Given the description of an element on the screen output the (x, y) to click on. 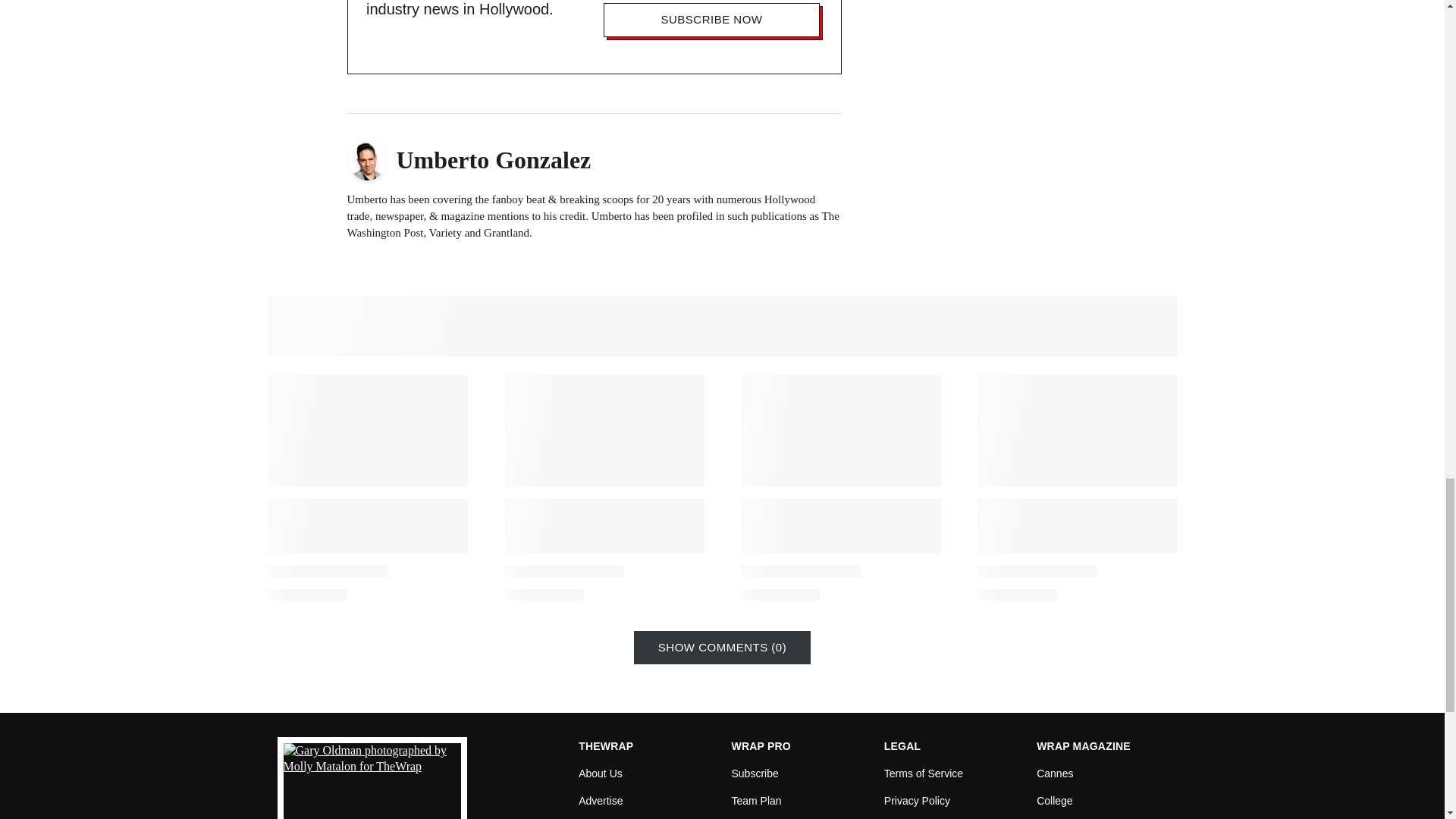
Learn more about becoming a member (758, 816)
